Given the description of an element on the screen output the (x, y) to click on. 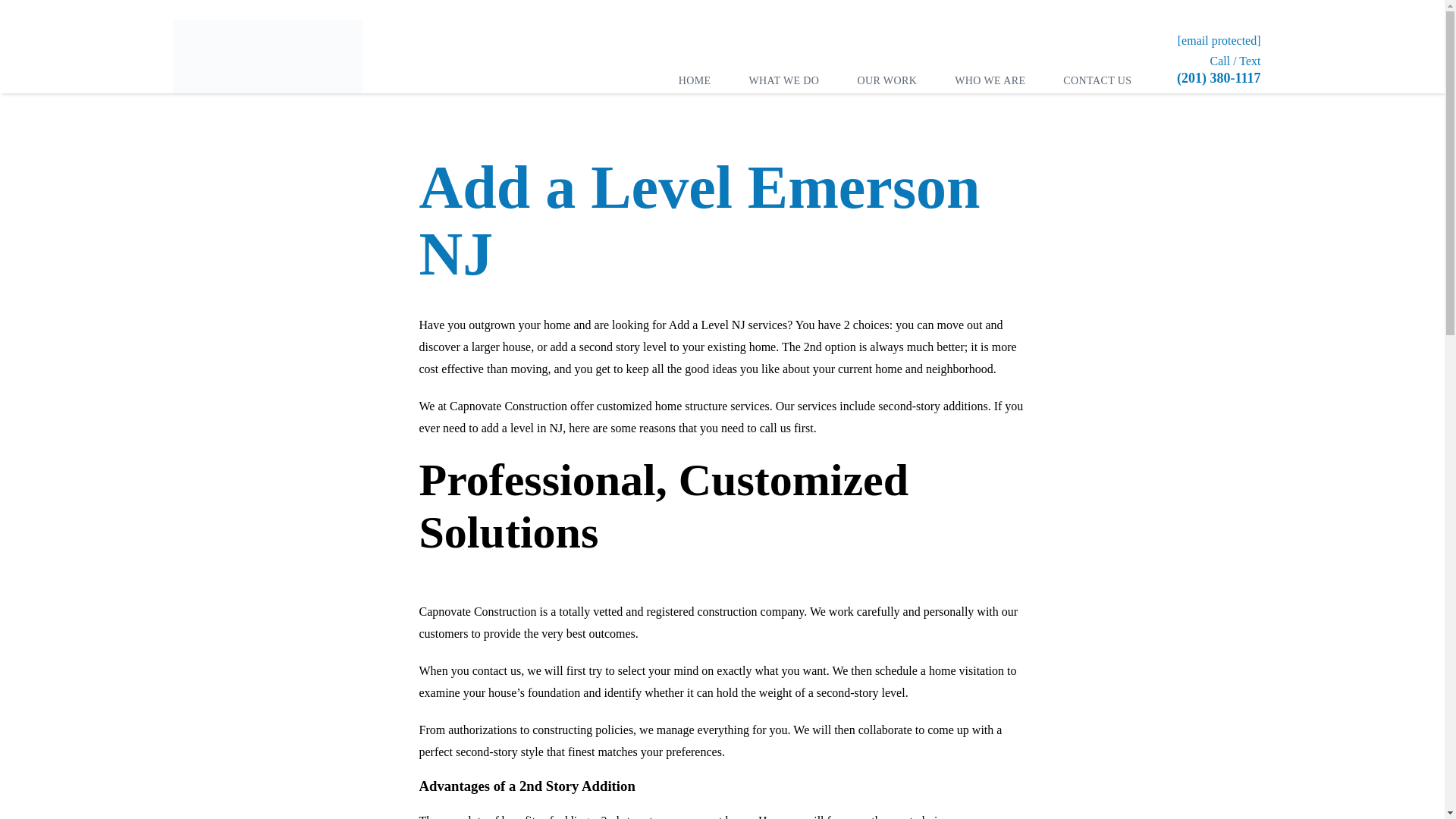
WHO WE ARE (989, 80)
CONTACT US (1096, 80)
OUR WORK (887, 80)
WHAT WE DO (783, 80)
HOME (694, 80)
